Given the description of an element on the screen output the (x, y) to click on. 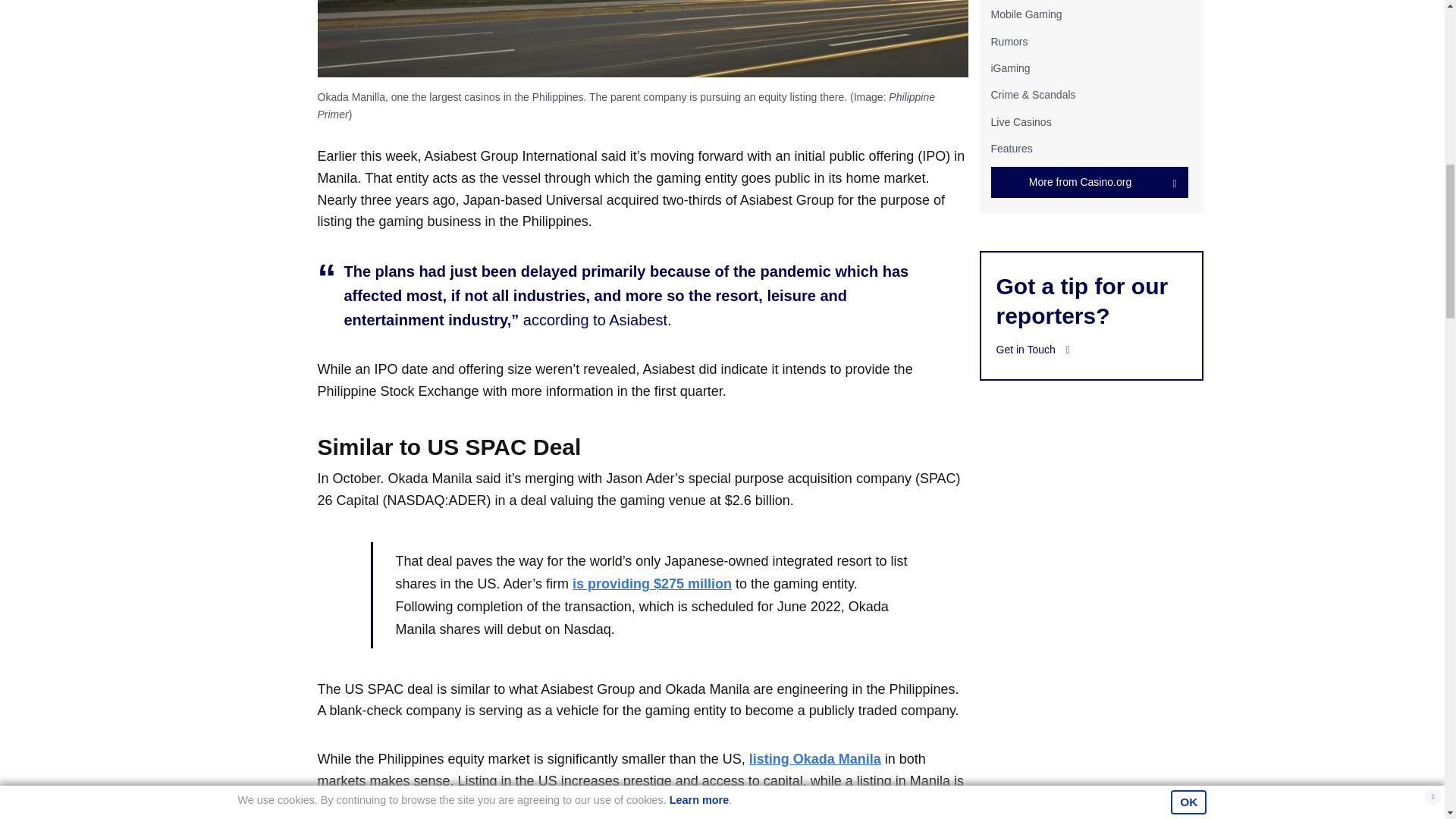
iGaming (1009, 68)
listing Okada Manila (814, 758)
Live Casinos (1020, 121)
Features (1011, 148)
Rumors (1008, 41)
Mobile Gaming (1025, 14)
